Given the description of an element on the screen output the (x, y) to click on. 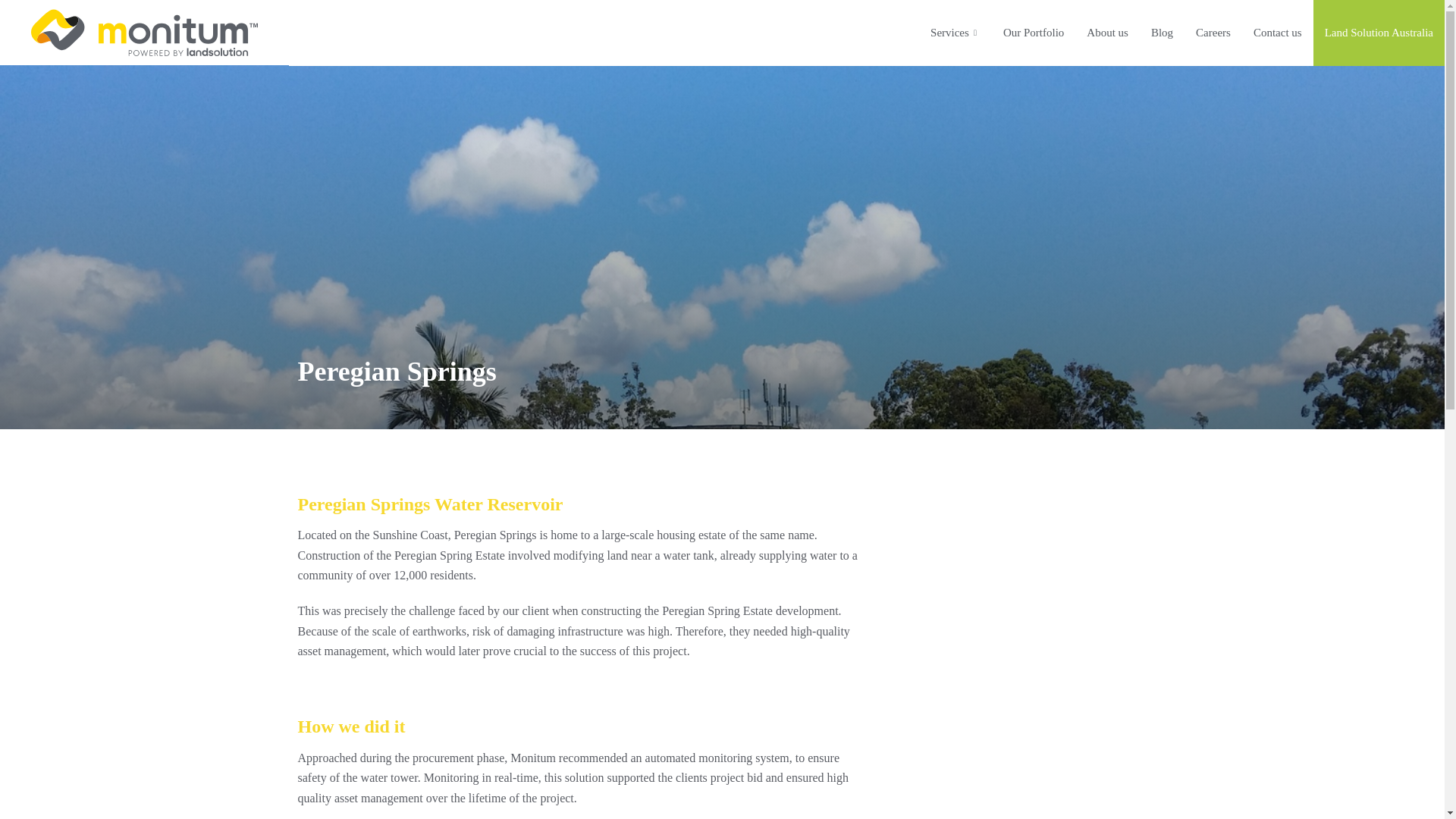
Contact us (1277, 33)
Our Portfolio (1033, 33)
Services (954, 33)
About us (1107, 33)
